Given the description of an element on the screen output the (x, y) to click on. 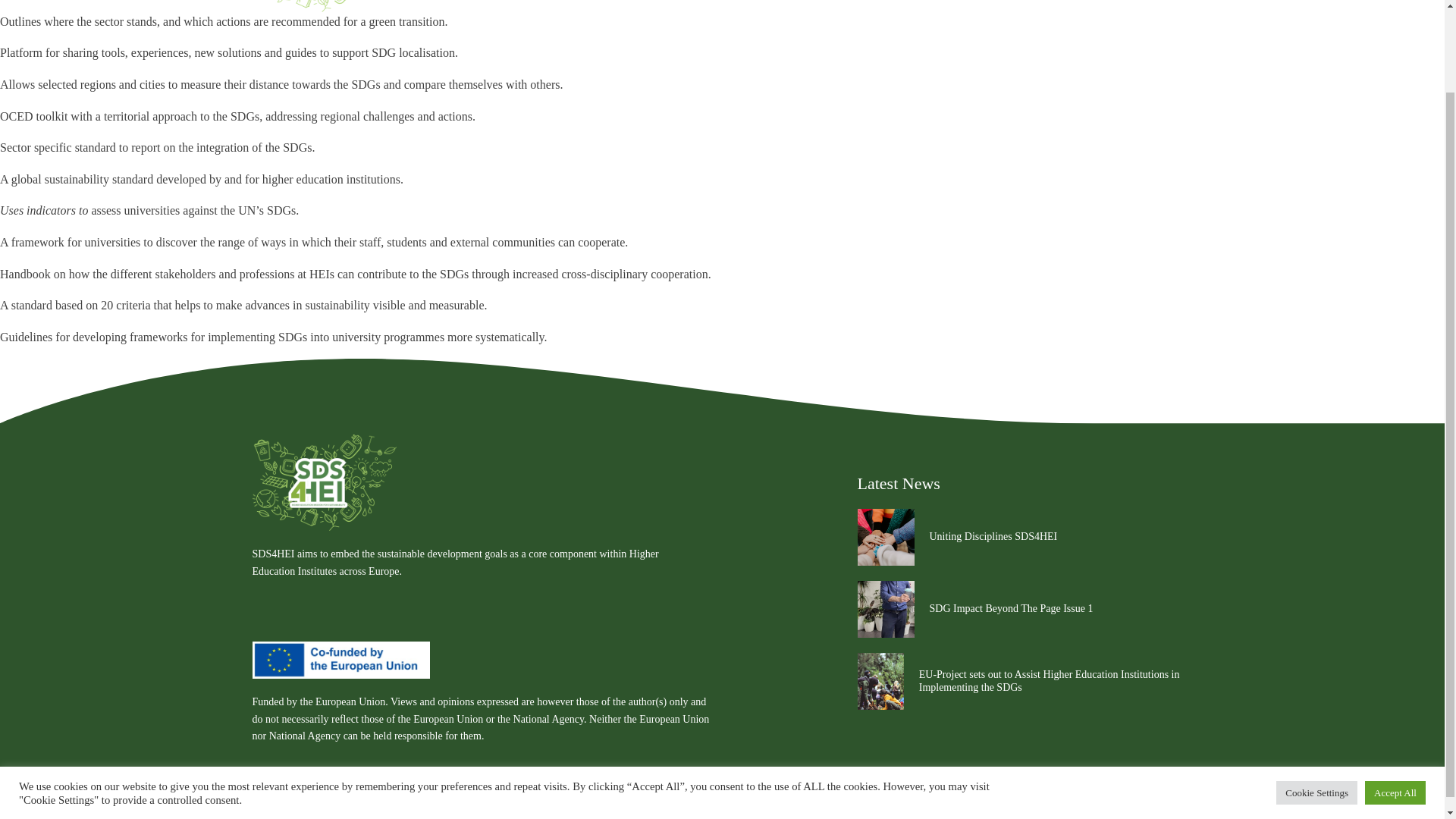
SDG Impact Beyond The Page Issue 1 (1011, 608)
PARTNERS (984, 2)
RESOURCES (1073, 2)
HOME (859, 2)
ABOUT (916, 2)
NEWS (1150, 2)
Cookie Settings (1316, 698)
Uniting Disciplines SDS4HEI (994, 536)
Accept All (1395, 698)
